Given the description of an element on the screen output the (x, y) to click on. 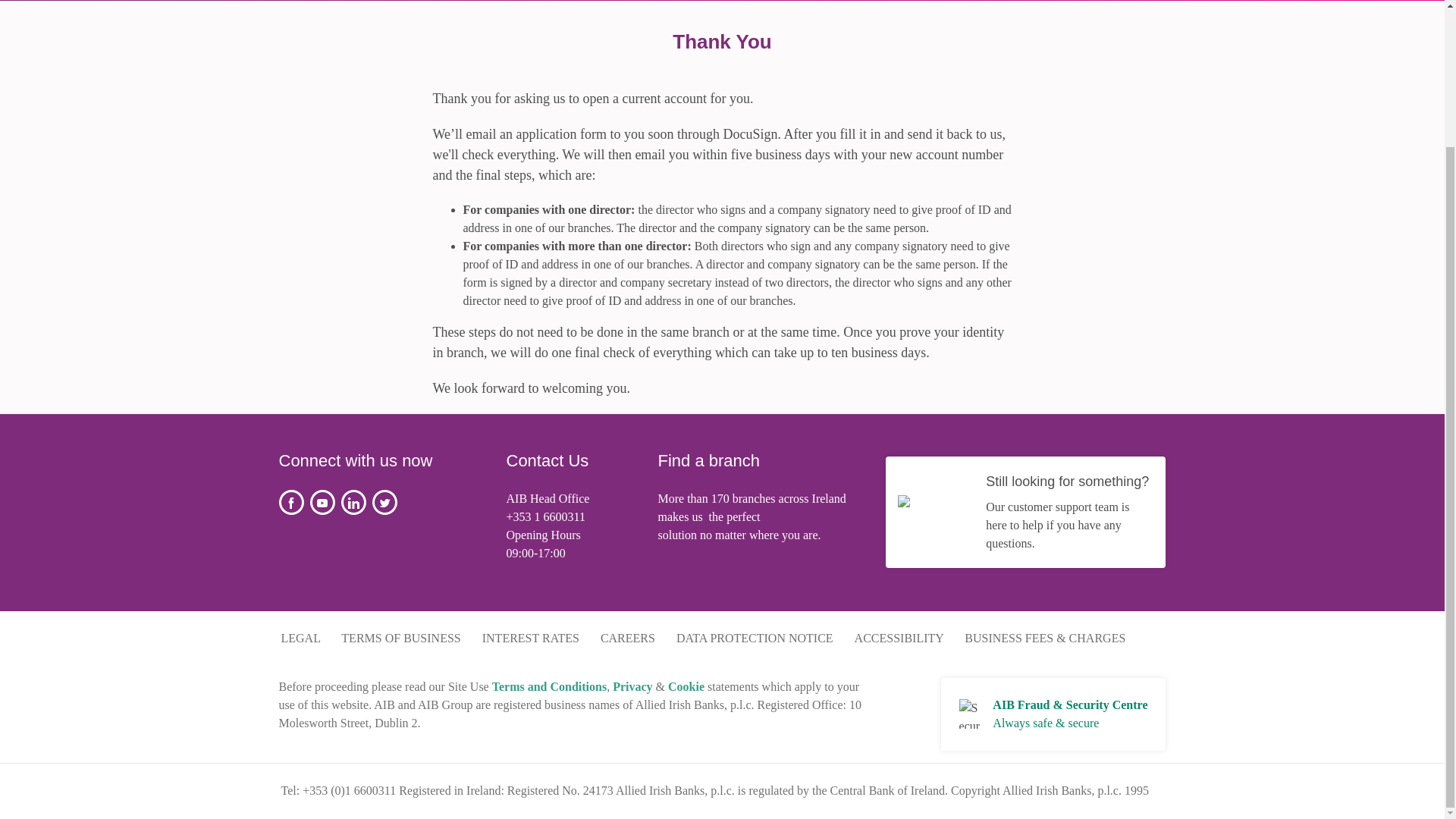
AIB Cookie Policy (686, 686)
AIB Terms and Conditions (549, 686)
AIB Privacy Statement (632, 686)
AIB branch locator (743, 498)
